Given the description of an element on the screen output the (x, y) to click on. 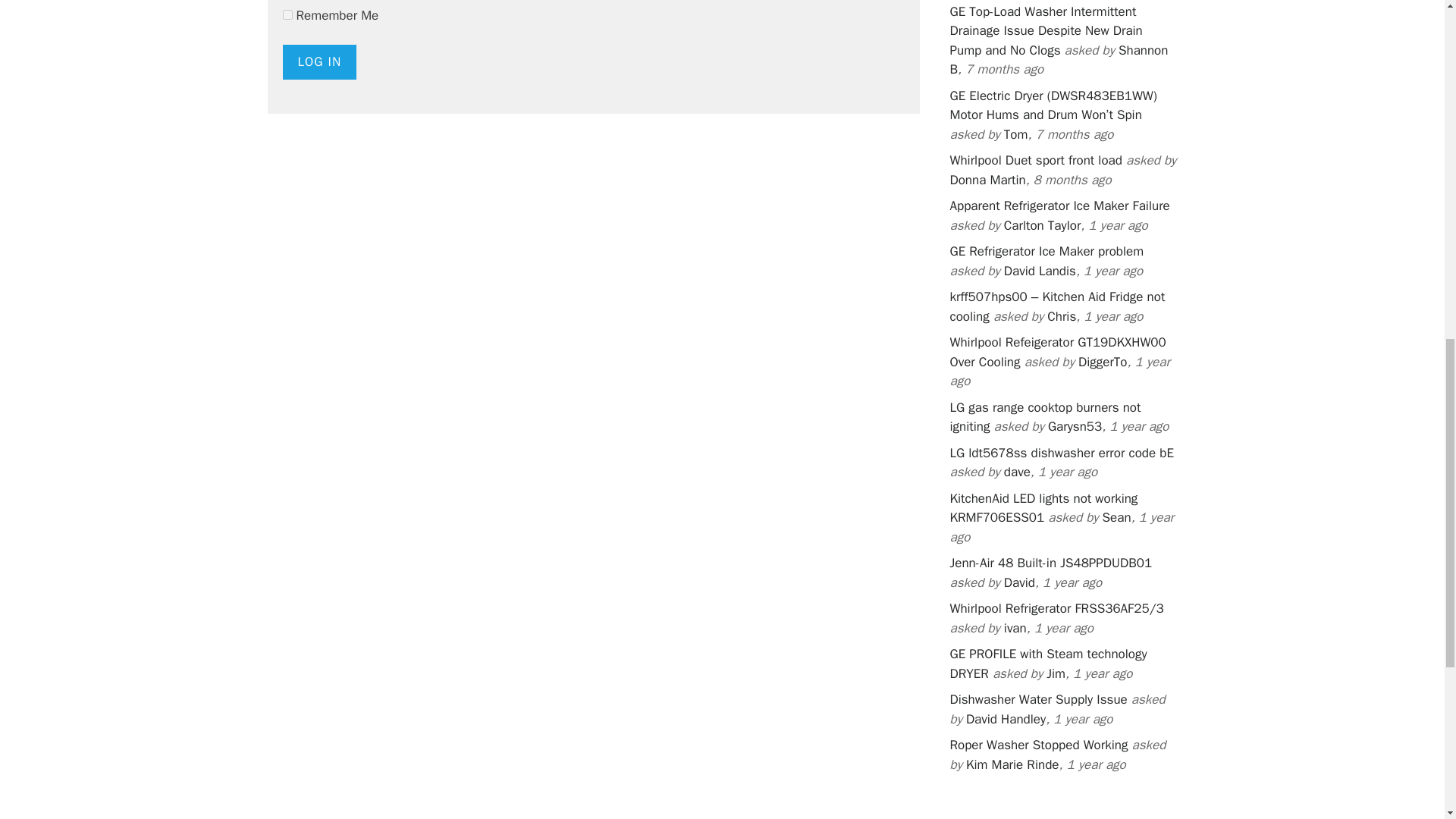
Chris (1060, 316)
Log In (319, 62)
Apparent Refrigerator Ice Maker Failure (1059, 205)
Whirlpool Refeigerator GT19DKXHW00 Over Cooling (1057, 352)
KitchenAid LED lights not working KRMF706ESS01 (1043, 508)
forever (287, 14)
dave (1017, 471)
David Landis (1039, 270)
Garysn53 (1075, 426)
Donna Martin (987, 179)
